Given the description of an element on the screen output the (x, y) to click on. 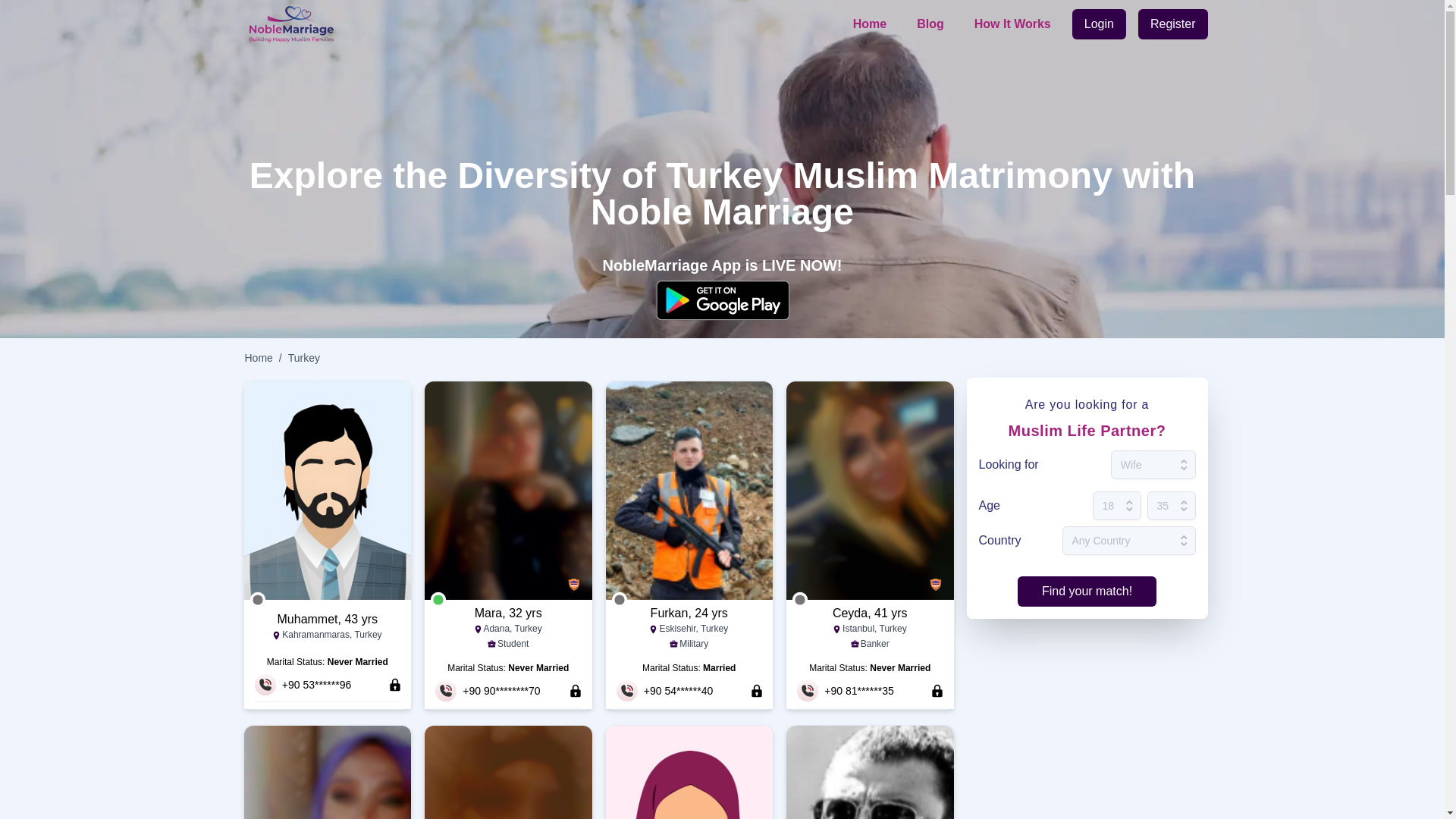
Login (1098, 24)
How It Works (1012, 24)
Offline: Chat to connect. (618, 599)
Blog (930, 24)
Eskisehir, Turkey (688, 630)
Muhammet, 43 yrs (327, 619)
Istanbul, Turkey (869, 630)
Adana, Turkey (507, 630)
Mara, 32 yrs (507, 613)
Furkan, 24 yrs (688, 613)
Online: Chat to talk. (437, 599)
Ceyda, 41 yrs (869, 613)
Offline: Chat to connect. (799, 599)
Register (1173, 24)
Offline: Chat to connect. (257, 599)
